Given the description of an element on the screen output the (x, y) to click on. 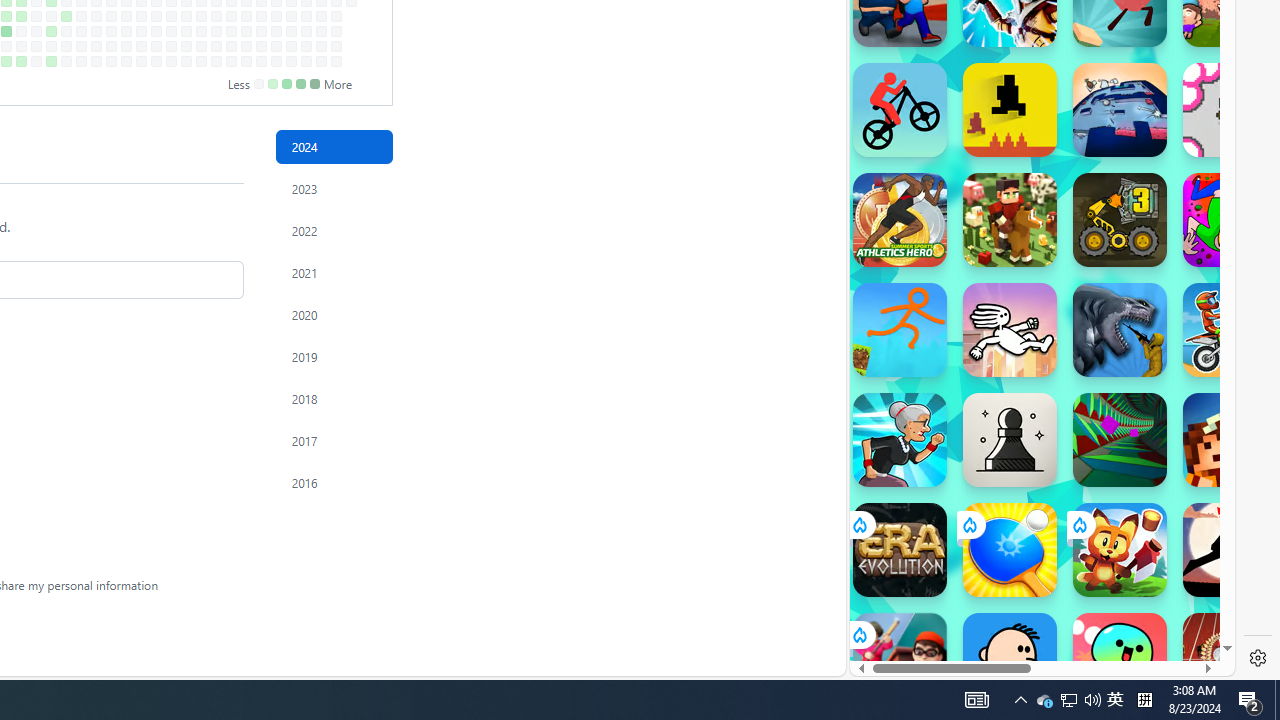
Dreadhead Parkour Dreadhead Parkour (1009, 329)
100 Metres Race 100 Metres Race (1229, 659)
No contributions on September 5th. (96, 30)
Combat Reloaded (1092, 200)
No contributions on December 18th. (321, 16)
Classic Chess (1009, 439)
JollyWorld (1229, 219)
No contributions on December 26th. (336, 30)
100 Metres Race (1229, 659)
No contributions on September 13th. (111, 46)
Global web icon (888, 607)
2022 (333, 230)
Into the Pit (1229, 109)
The Speed Ninja (1229, 549)
Hills of Steel Hills of Steel poki.com (943, 245)
